Given the description of an element on the screen output the (x, y) to click on. 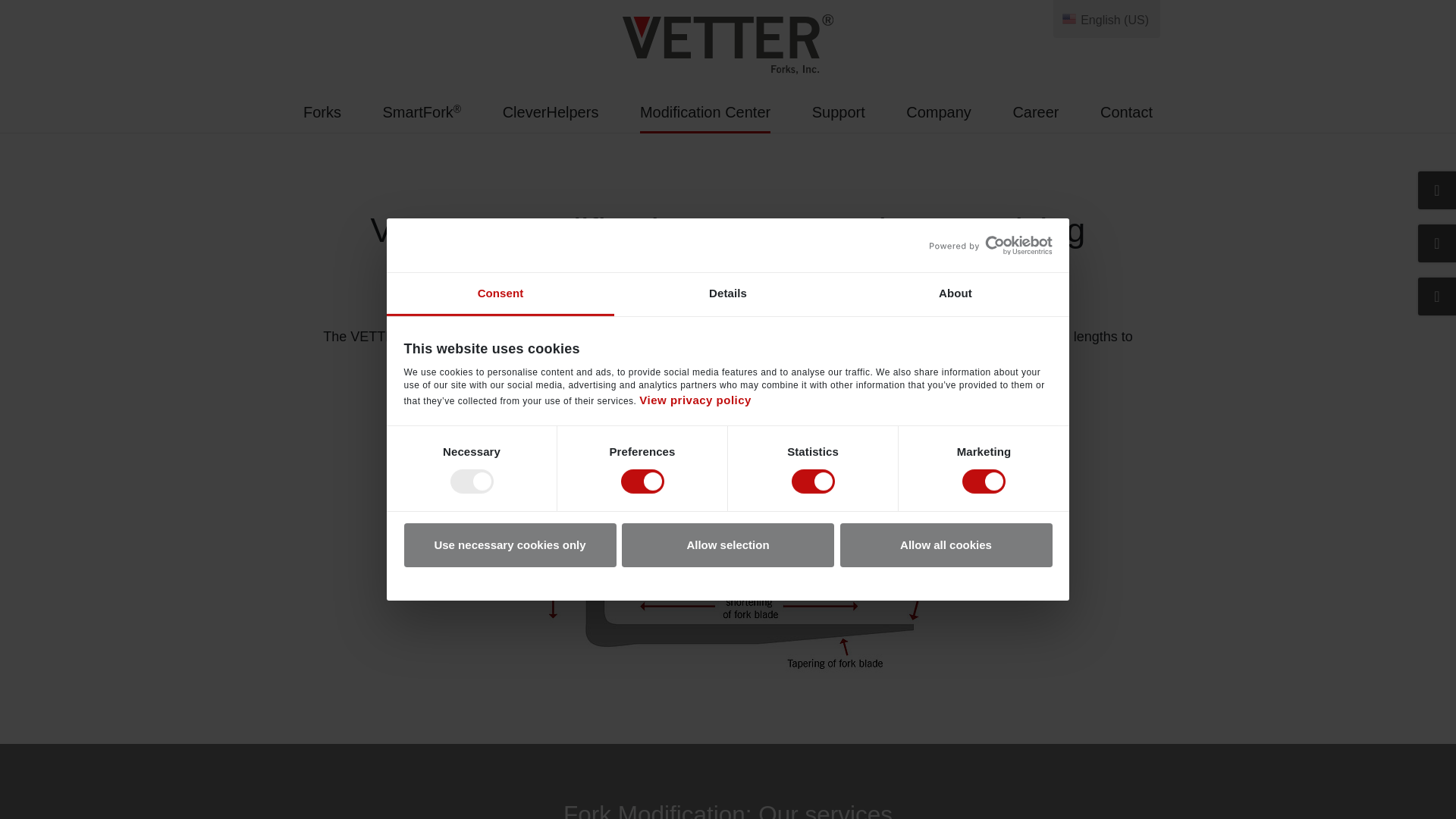
Allow selection (727, 545)
Allow all cookies (946, 545)
About (954, 294)
Consent (500, 294)
Details (727, 294)
Use necessary cookies only (509, 545)
View privacy policy (695, 399)
Modification Center (705, 117)
Contact (1126, 117)
